Given the description of an element on the screen output the (x, y) to click on. 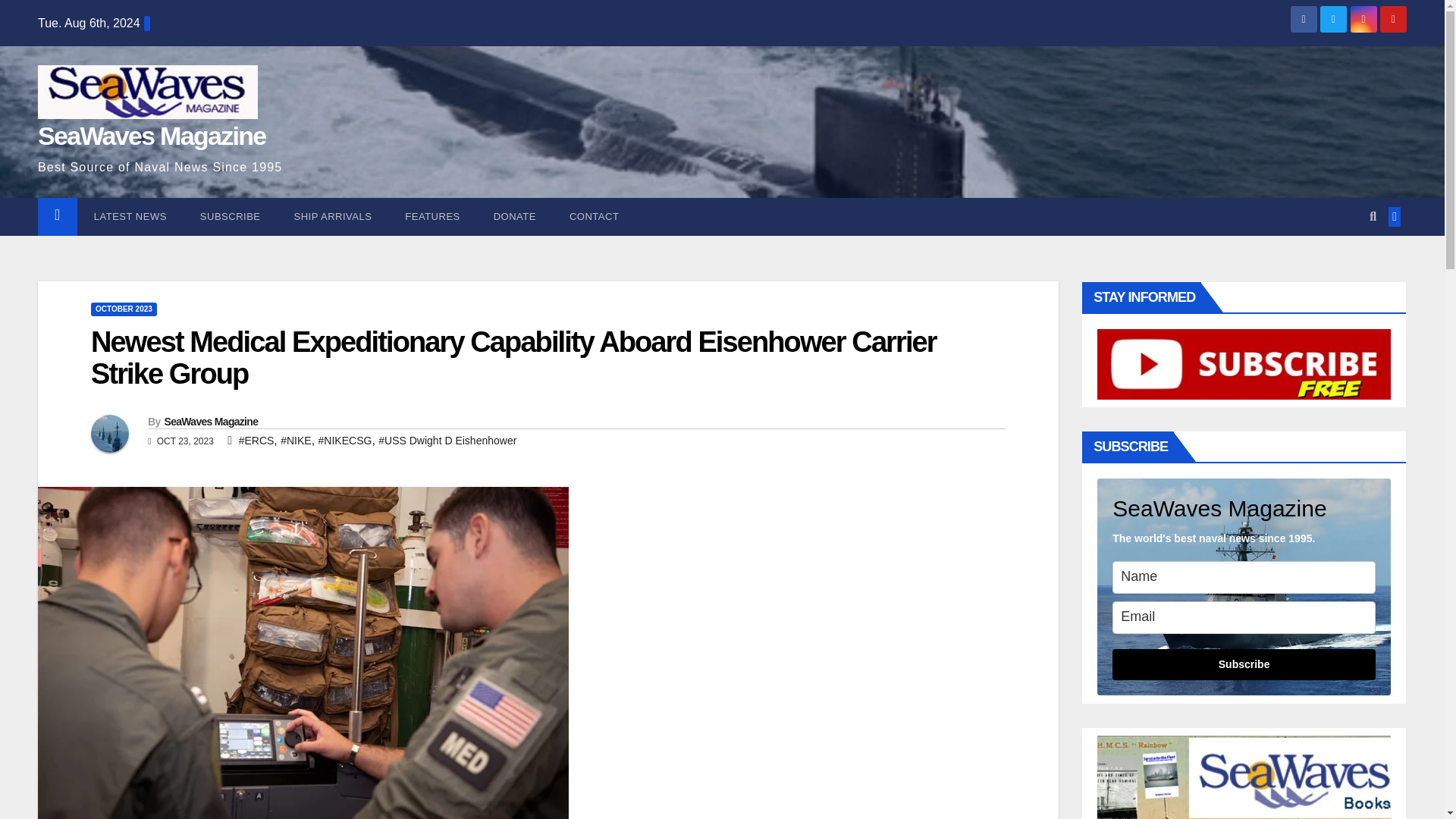
LATEST NEWS (130, 216)
SUBSCRIBE (230, 216)
SHIP ARRIVALS (333, 216)
Ship Arrivals (333, 216)
Features (432, 216)
SeaWaves Magazine (151, 135)
Subscribe (230, 216)
Latest News (130, 216)
FEATURES (432, 216)
